Given the description of an element on the screen output the (x, y) to click on. 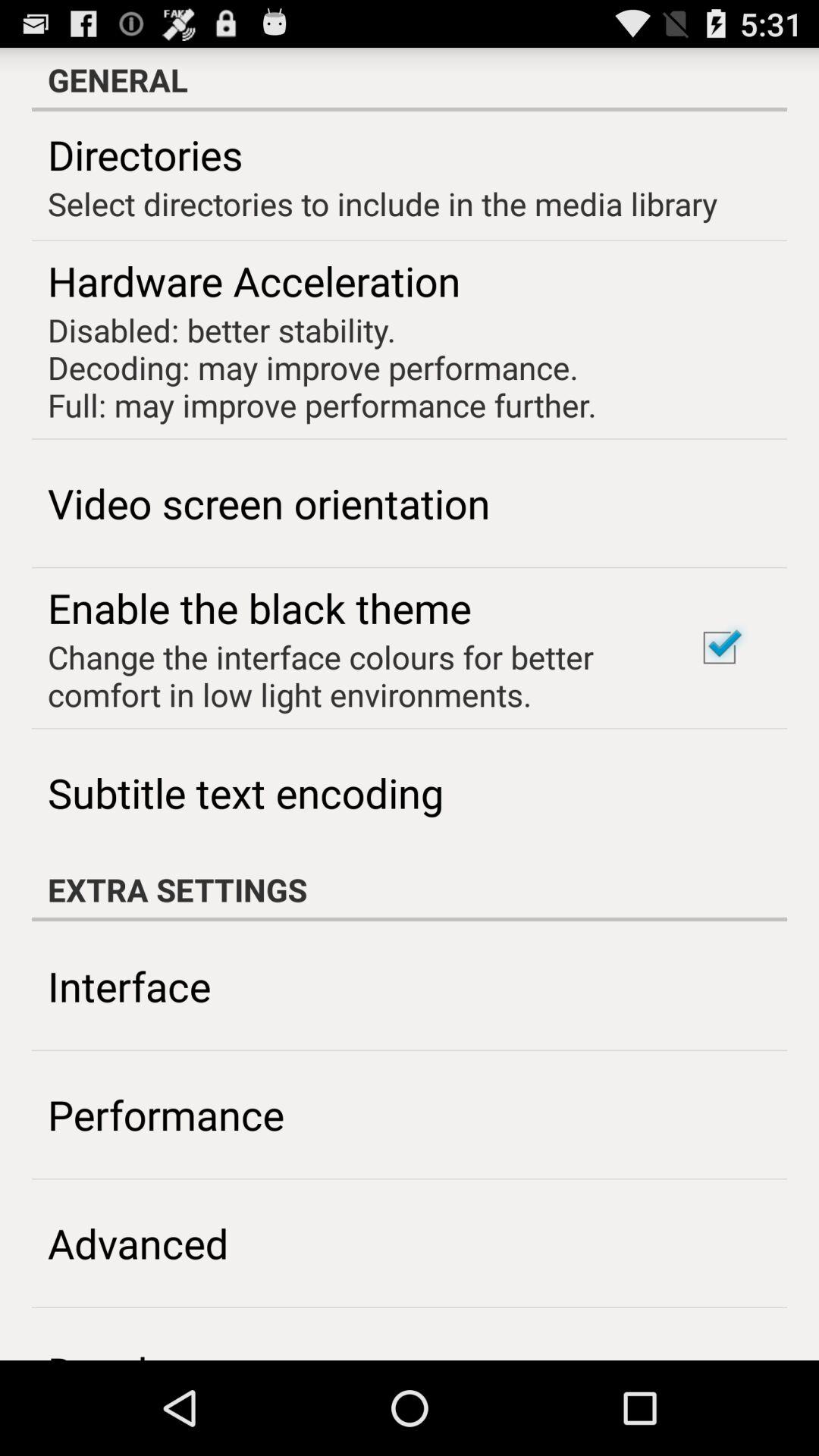
turn off the subtitle text encoding item (245, 792)
